Given the description of an element on the screen output the (x, y) to click on. 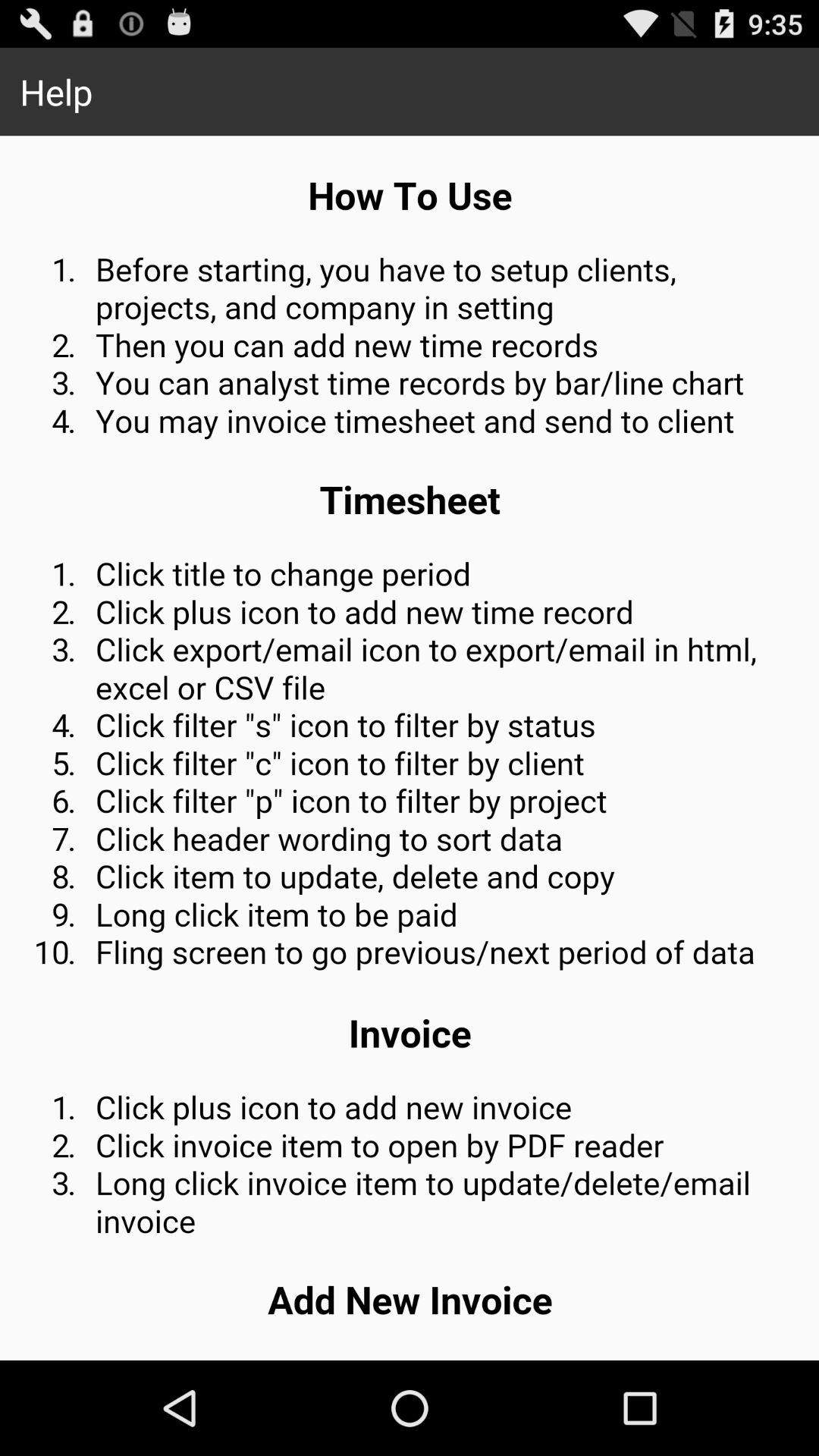
read the instructions page (409, 747)
